Given the description of an element on the screen output the (x, y) to click on. 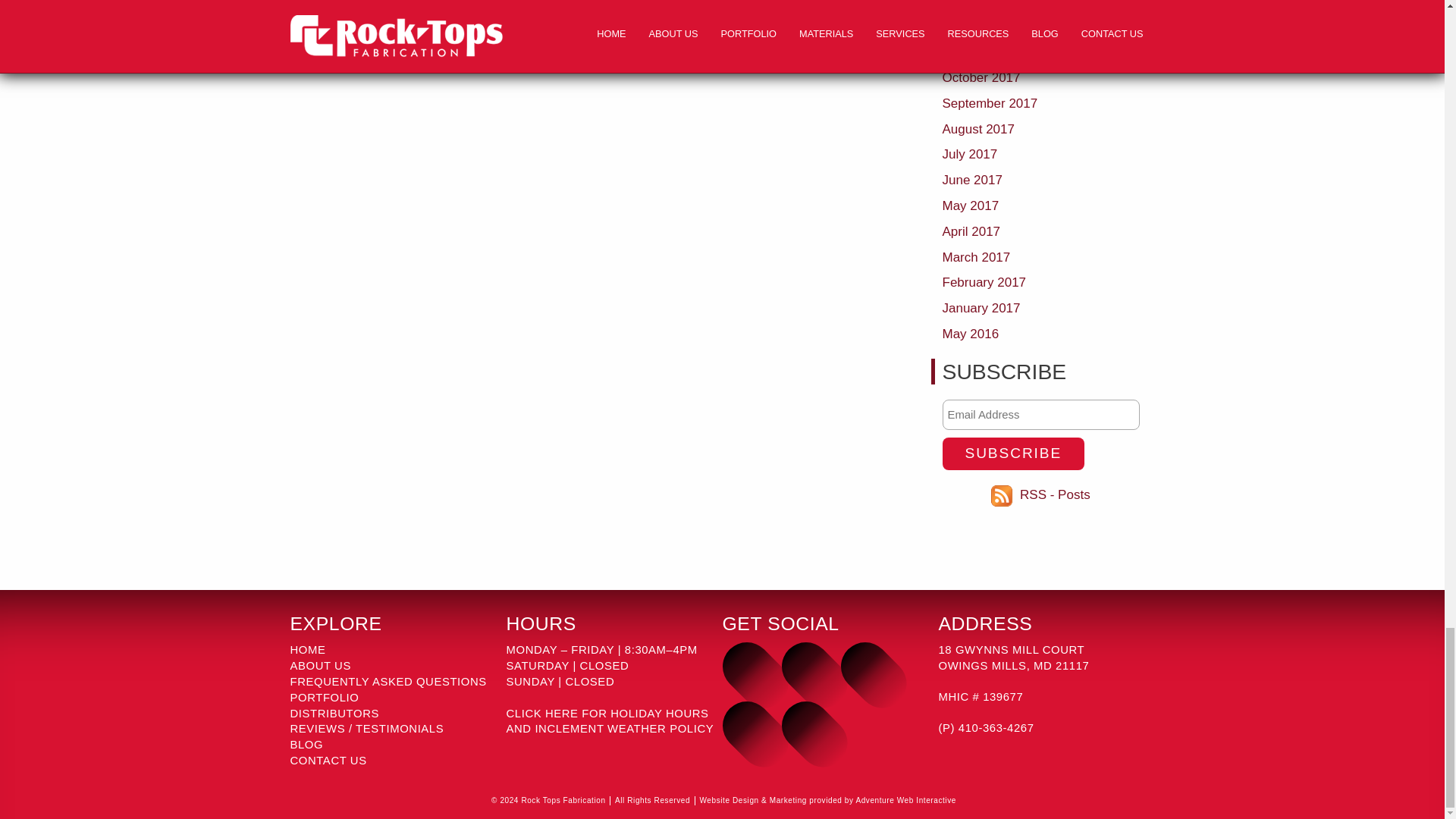
Pinterest (746, 725)
Houzz (804, 725)
YouTube (864, 666)
Subscribe to Posts (1055, 494)
Twitter (746, 666)
Facebook (804, 666)
Subscribe to Posts (1003, 494)
